Given the description of an element on the screen output the (x, y) to click on. 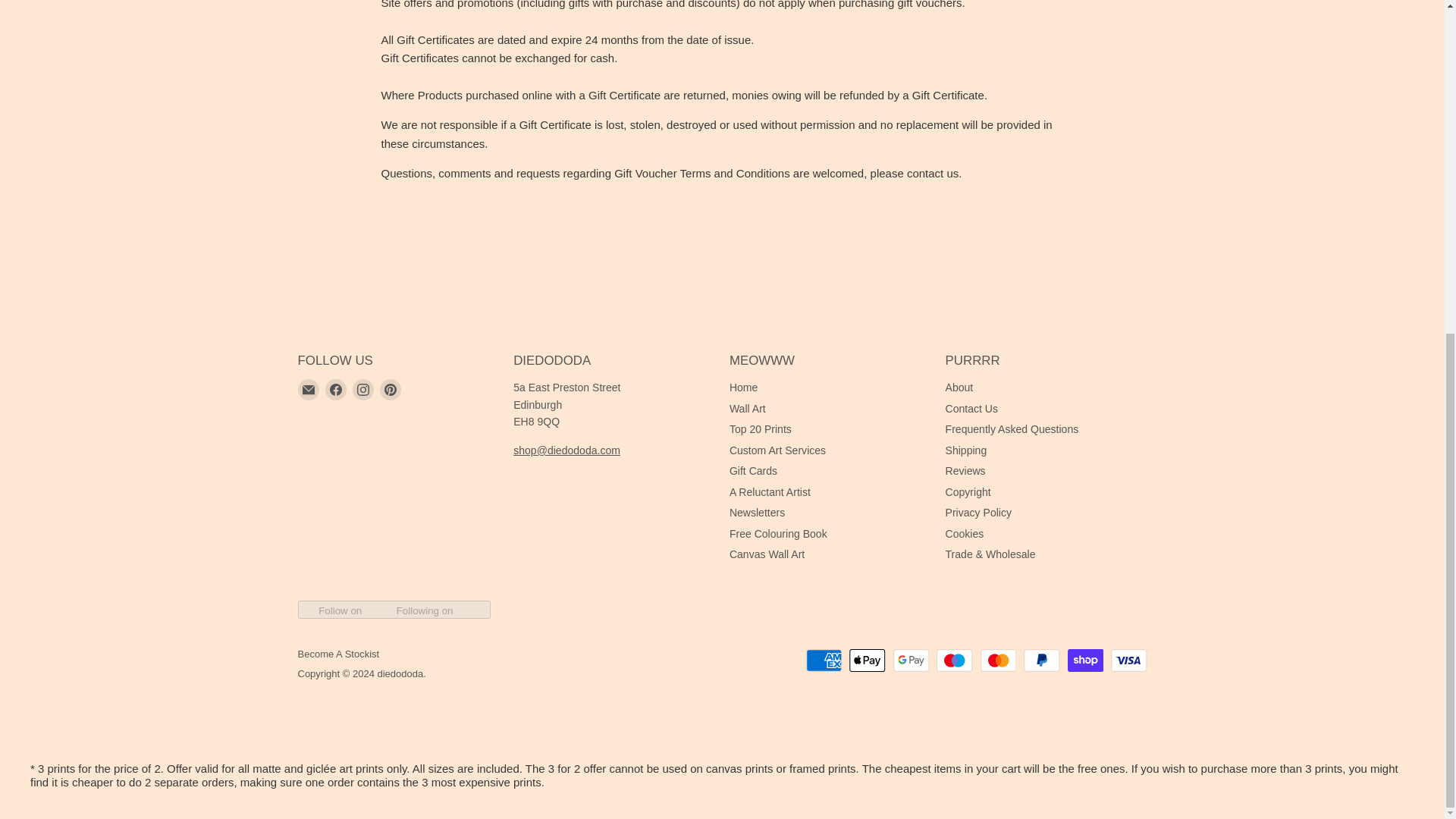
Instagram (362, 389)
Pinterest (389, 389)
E-mail (307, 389)
Facebook (335, 389)
